Given the description of an element on the screen output the (x, y) to click on. 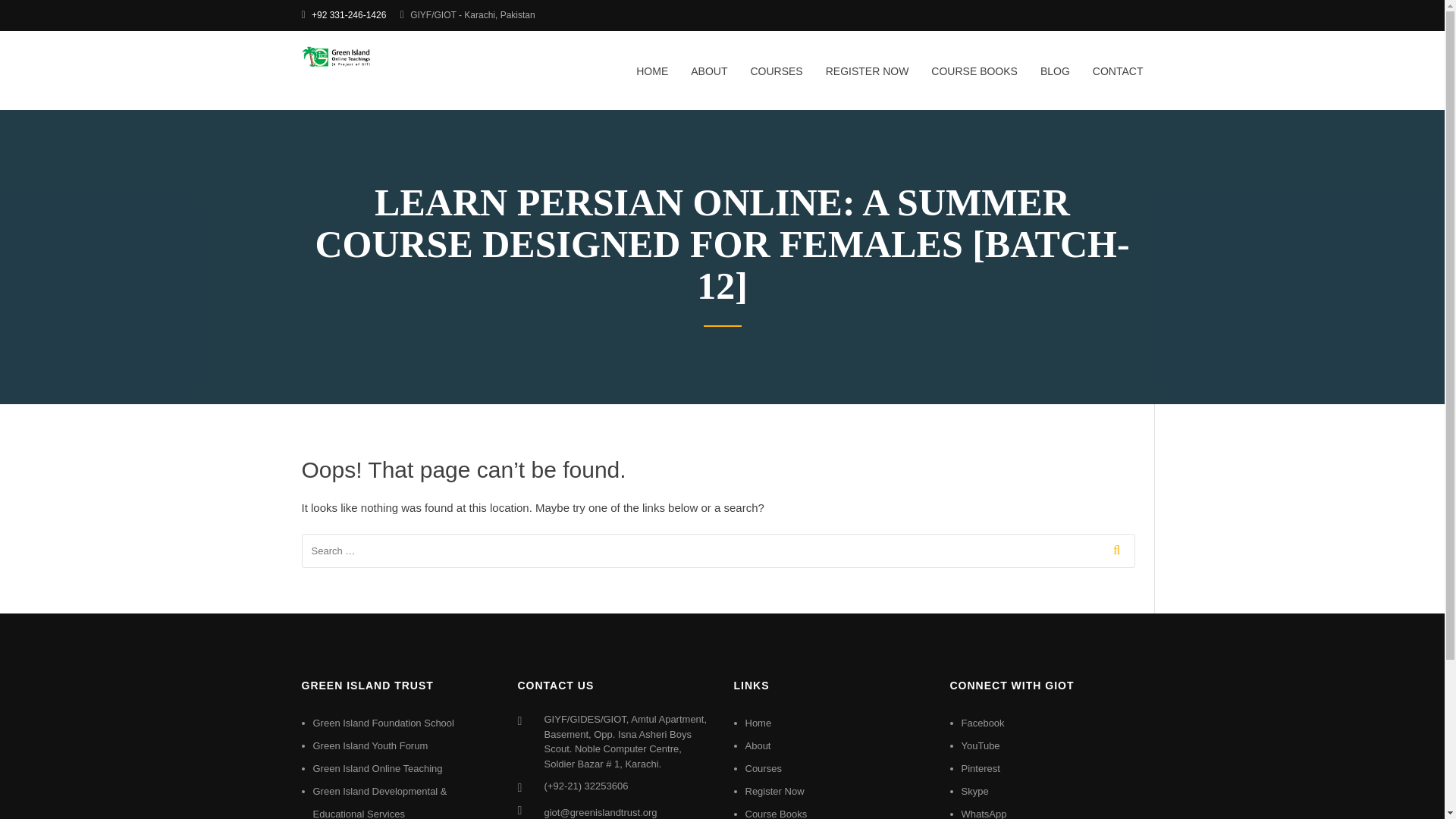
HOME (651, 80)
Green Island Foundation School (382, 722)
ABOUT (708, 80)
Skype (974, 790)
CONTACT (1111, 80)
Facebook (982, 722)
Green Island Online Teaching (377, 767)
COURSE BOOKS (974, 80)
Home (757, 722)
Course Books (775, 813)
Pinterest (980, 767)
Register Now (773, 790)
About (757, 745)
WhatsApp (983, 813)
Courses (762, 767)
